Given the description of an element on the screen output the (x, y) to click on. 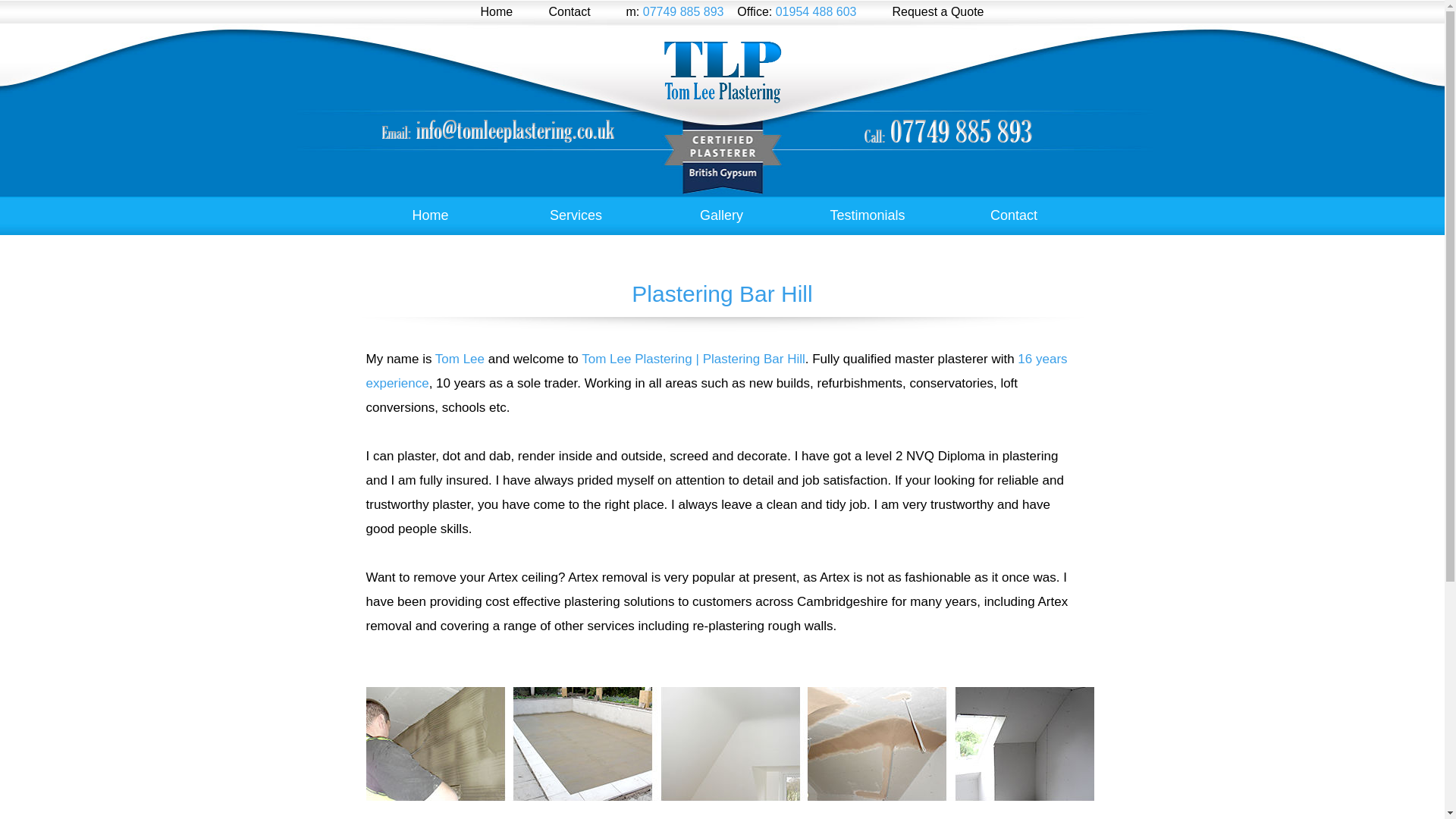
Gallery (721, 215)
Services (575, 215)
Home (430, 215)
Home (496, 11)
Request a Quote (937, 11)
Contact (1014, 215)
Contact (569, 11)
Testimonials (866, 215)
